Given the description of an element on the screen output the (x, y) to click on. 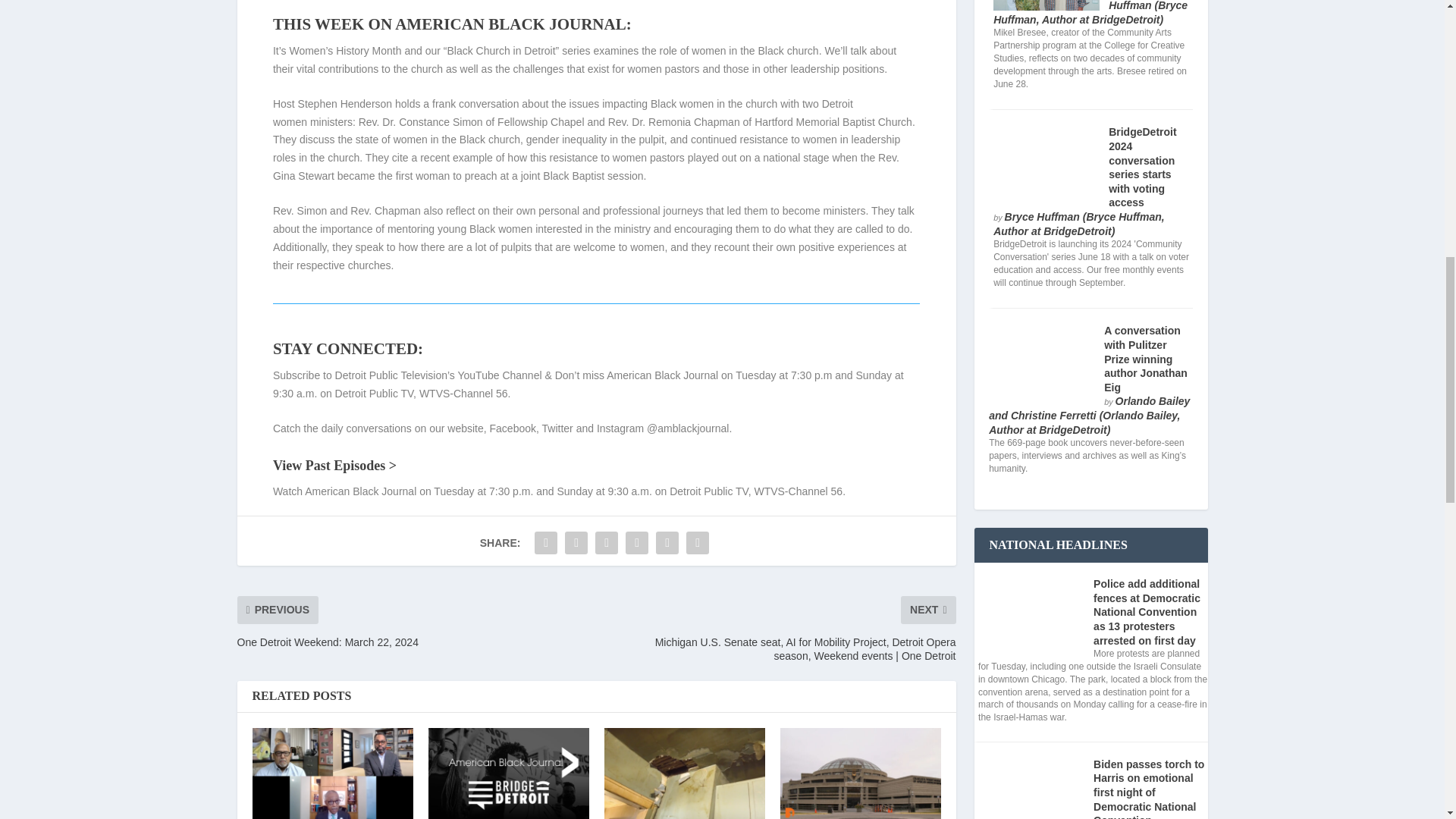
Do Black Lives Matter in America? (508, 773)
Host Stephen Henderson (332, 103)
